Given the description of an element on the screen output the (x, y) to click on. 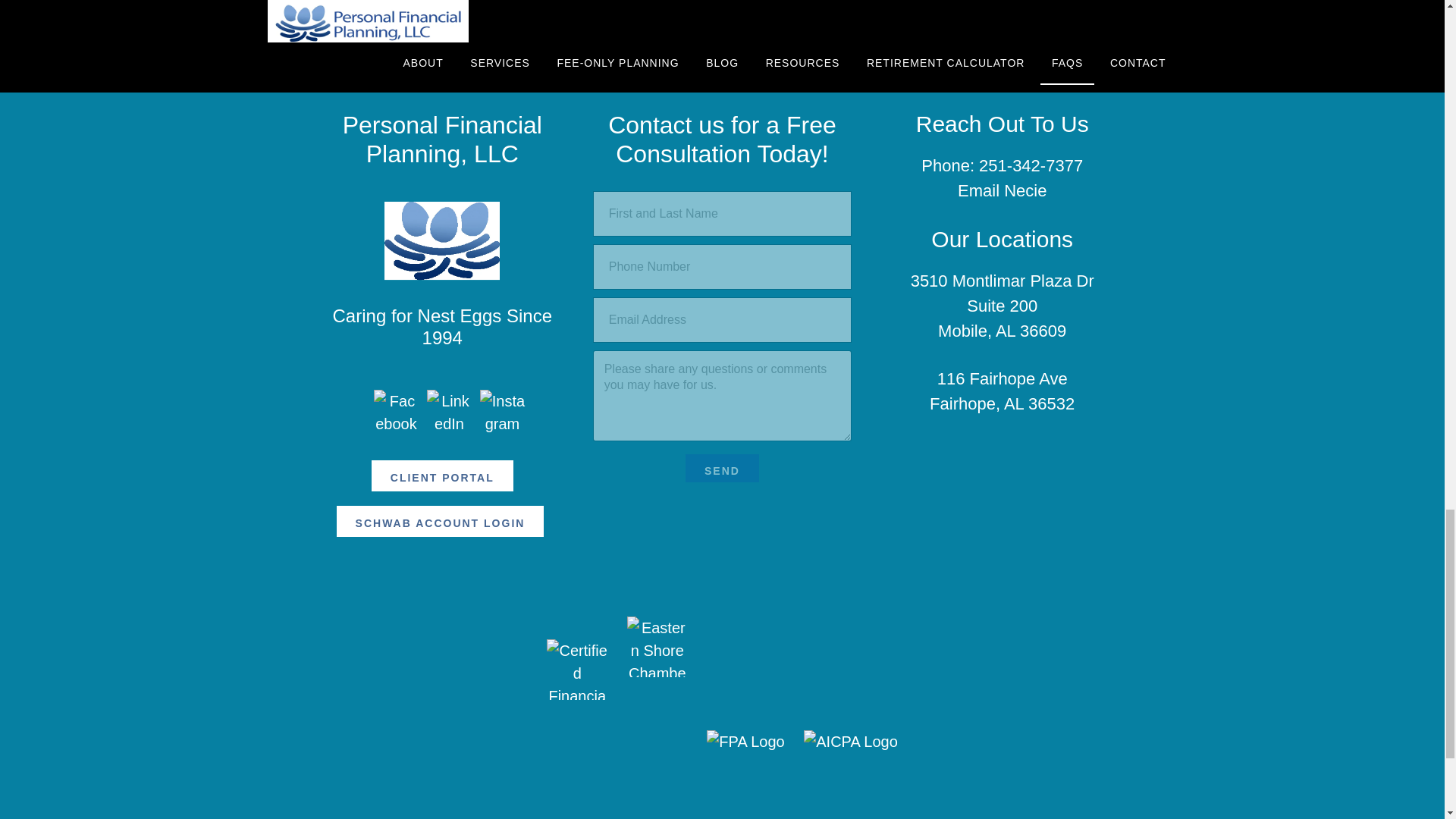
Facebook (395, 411)
Instagram (501, 411)
SEND (722, 468)
CLIENT PORTAL (442, 475)
LinkedIn (448, 411)
Phone: 251-342-7377 (1002, 165)
SCHWAB ACCOUNT LOGIN (440, 521)
Email Necie (1002, 189)
